Given the description of an element on the screen output the (x, y) to click on. 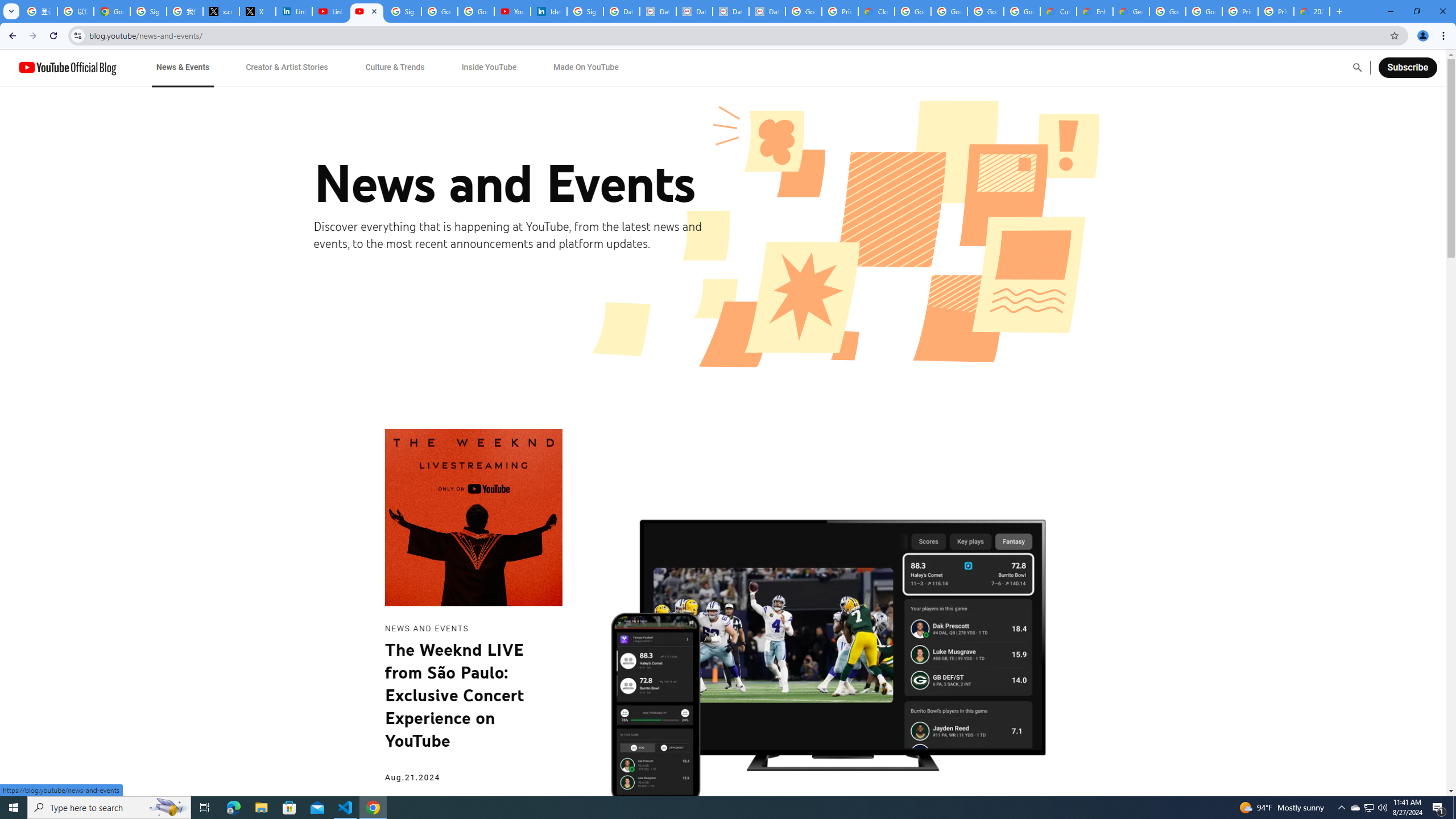
LinkedIn - YouTube (330, 11)
